Given the description of an element on the screen output the (x, y) to click on. 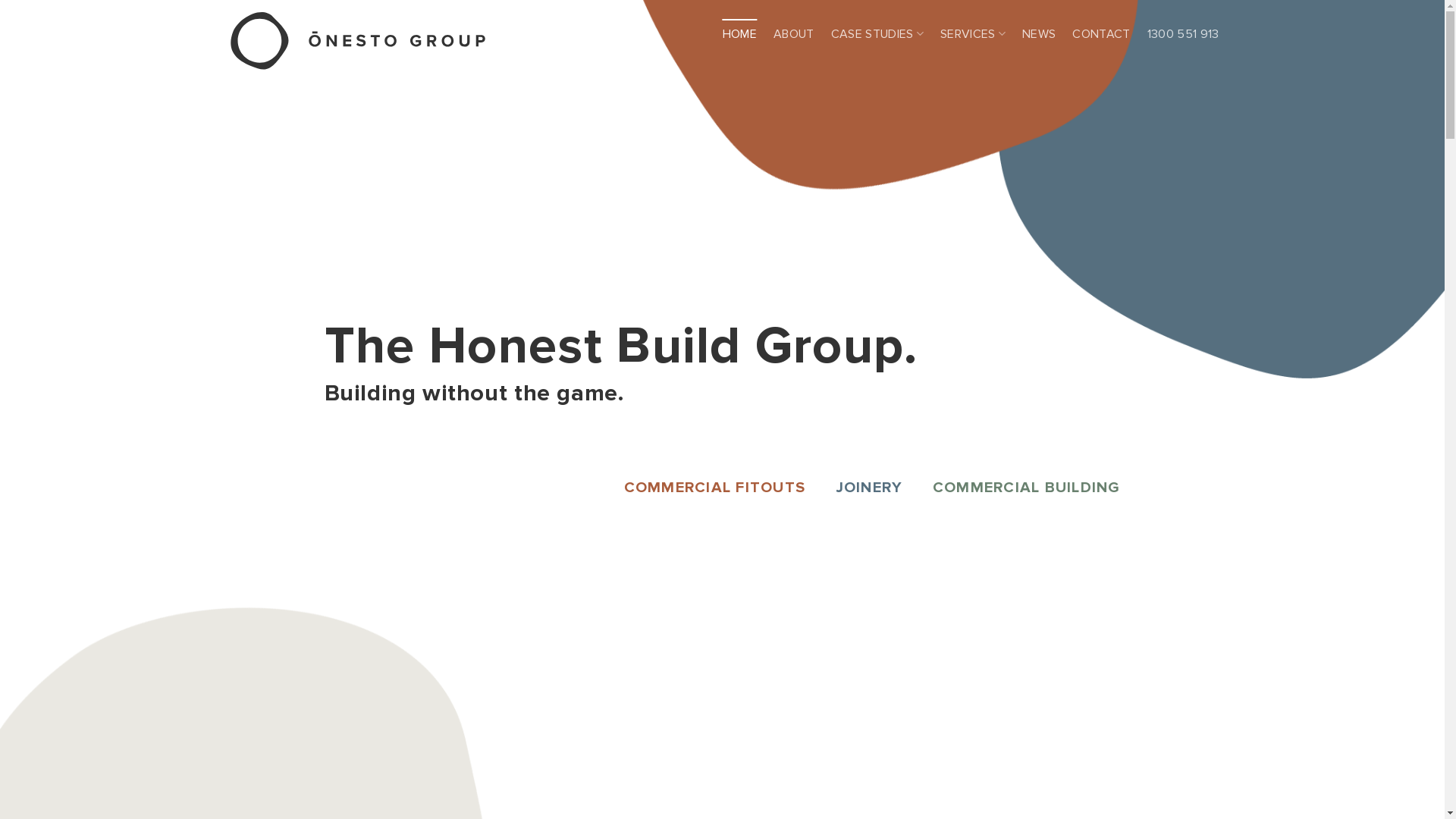
1300 551 913 Element type: text (1183, 33)
ABOUT Element type: text (793, 33)
JOINERY Element type: text (869, 488)
COMMERCIAL FITOUTS Element type: text (714, 488)
NEWS Element type: text (1038, 33)
COMMERCIAL BUILDING Element type: text (1026, 488)
CONTACT Element type: text (1100, 33)
SERVICES Element type: text (972, 33)
CASE STUDIES Element type: text (877, 33)
HOME Element type: text (739, 33)
Skip to content Element type: text (0, 0)
Onesto Group - Building without the game. Element type: hover (358, 40)
